Given the description of an element on the screen output the (x, y) to click on. 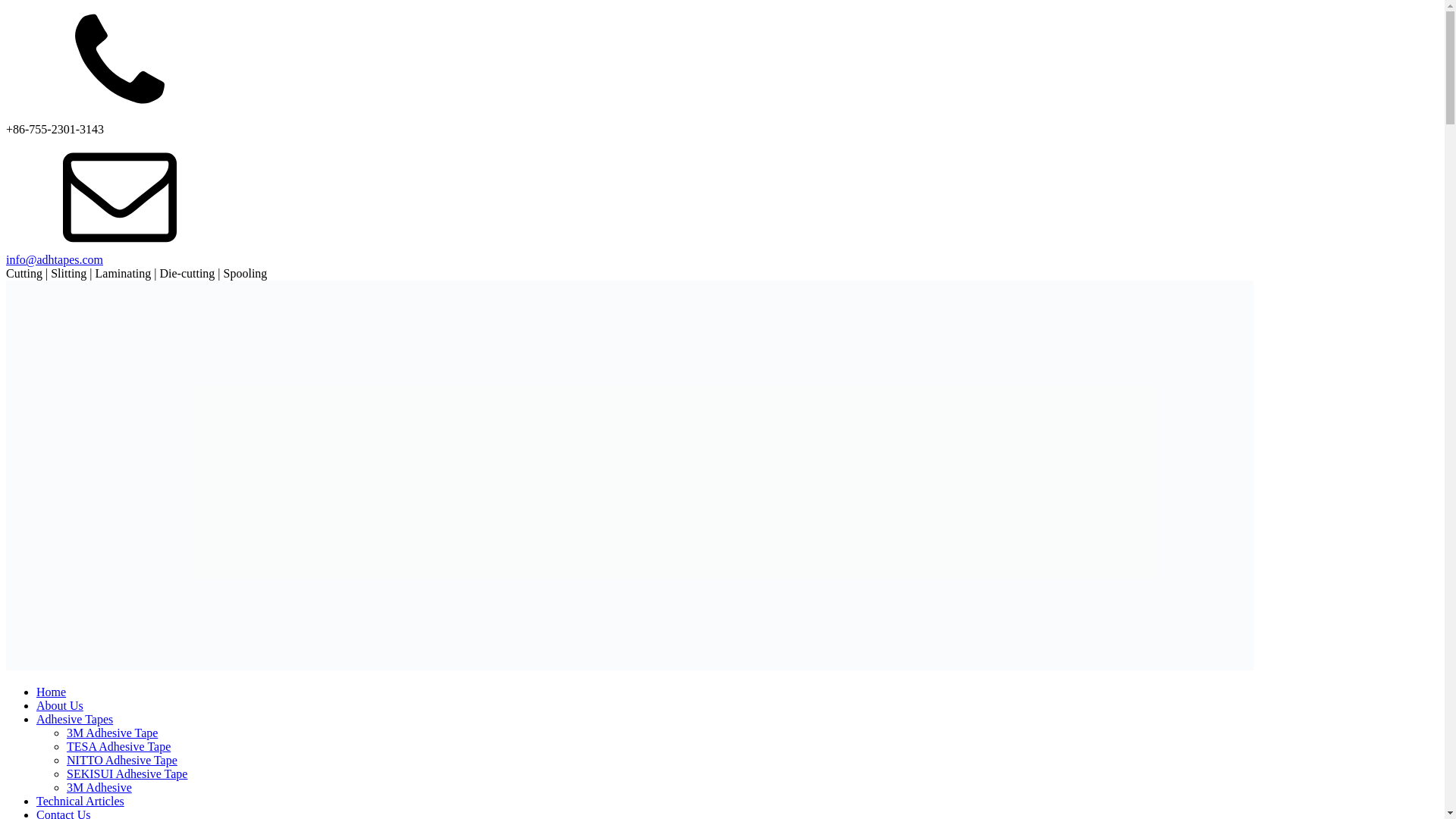
Adhesive Tapes (74, 718)
3M Adhesive (99, 787)
About Us (59, 705)
Contact Us (63, 813)
SEKISUI Adhesive Tape (126, 773)
3M Adhesive Tape (111, 732)
Technical Articles (79, 800)
NITTO Adhesive Tape (121, 759)
Home (50, 691)
TESA Adhesive Tape (118, 746)
